Given the description of an element on the screen output the (x, y) to click on. 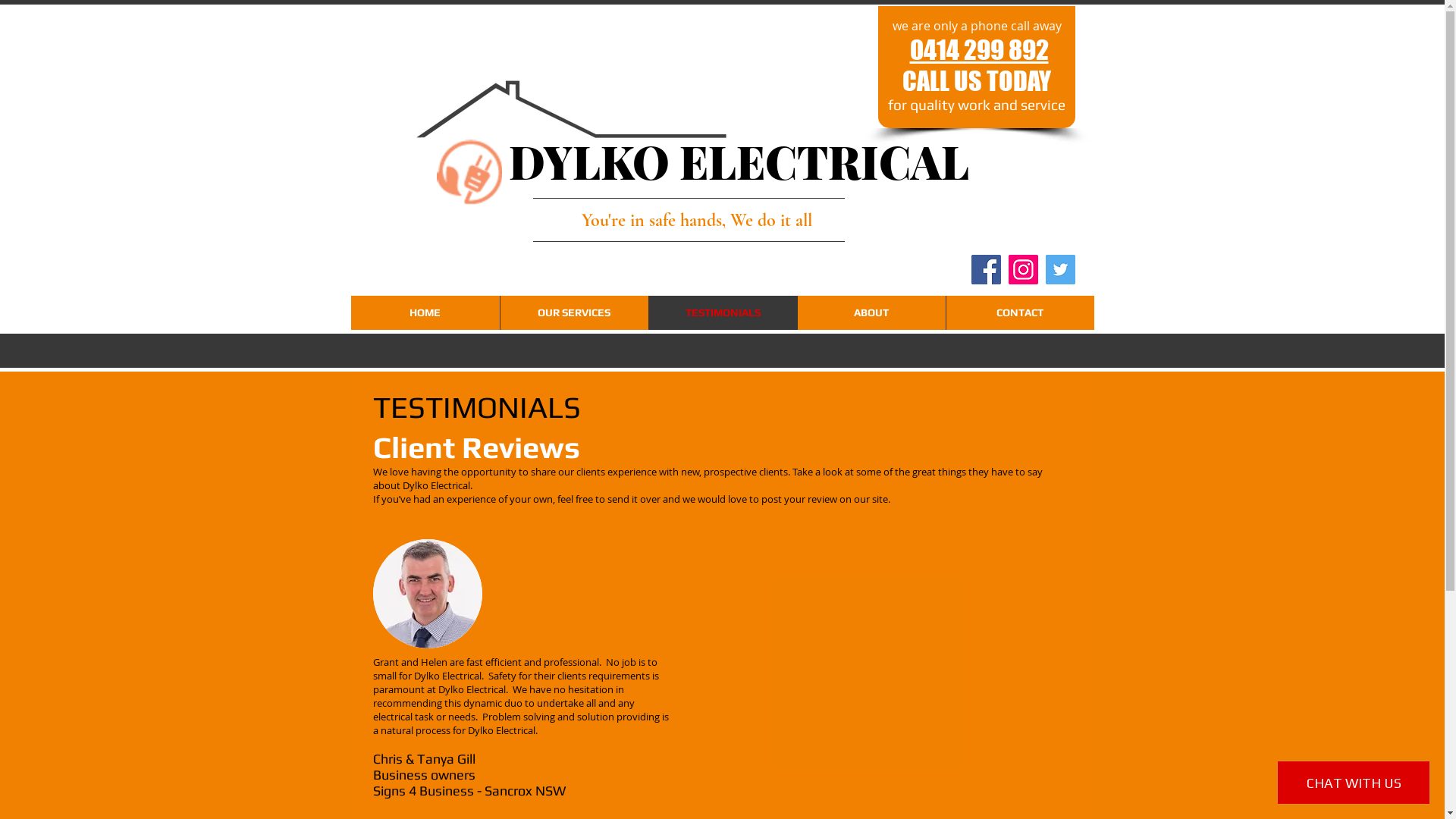
CONTACT Element type: text (1018, 312)
0414 299 892 Element type: text (979, 49)
orange2 plug and leaf.png Element type: hover (469, 171)
You're in safe hands, We do it all Element type: text (695, 220)
TESTIMONIALS Element type: text (721, 312)
Bago-Real-Estate-7b-400x400.jpg Element type: hover (427, 593)
HOME Element type: text (424, 312)
ABOUT Element type: text (870, 312)
OUR SERVICES Element type: text (572, 312)
DYLKO ELECTRICAL Element type: text (738, 161)
